Given the description of an element on the screen output the (x, y) to click on. 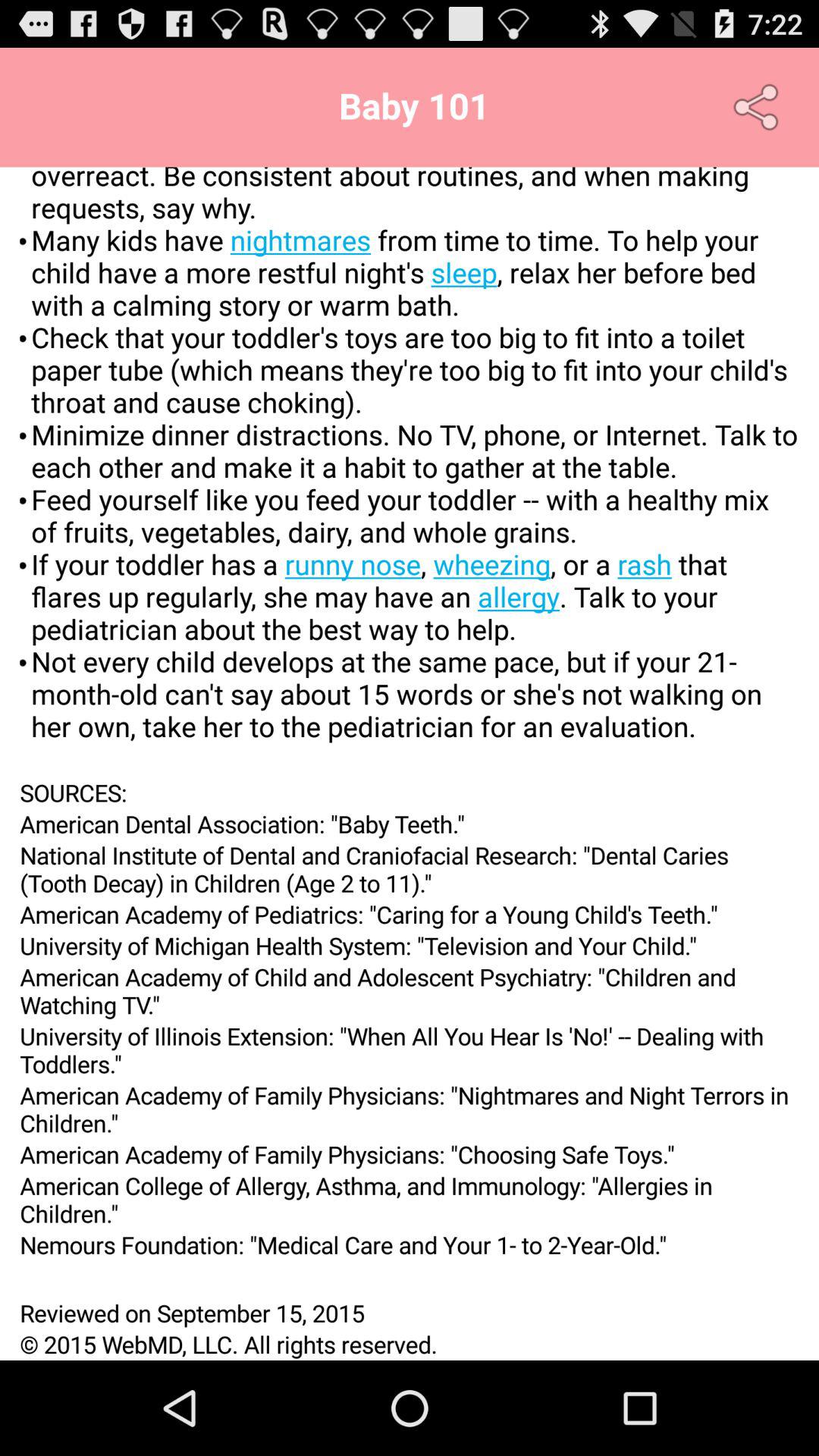
launch the icon above 2015 webmd llc app (409, 1313)
